Given the description of an element on the screen output the (x, y) to click on. 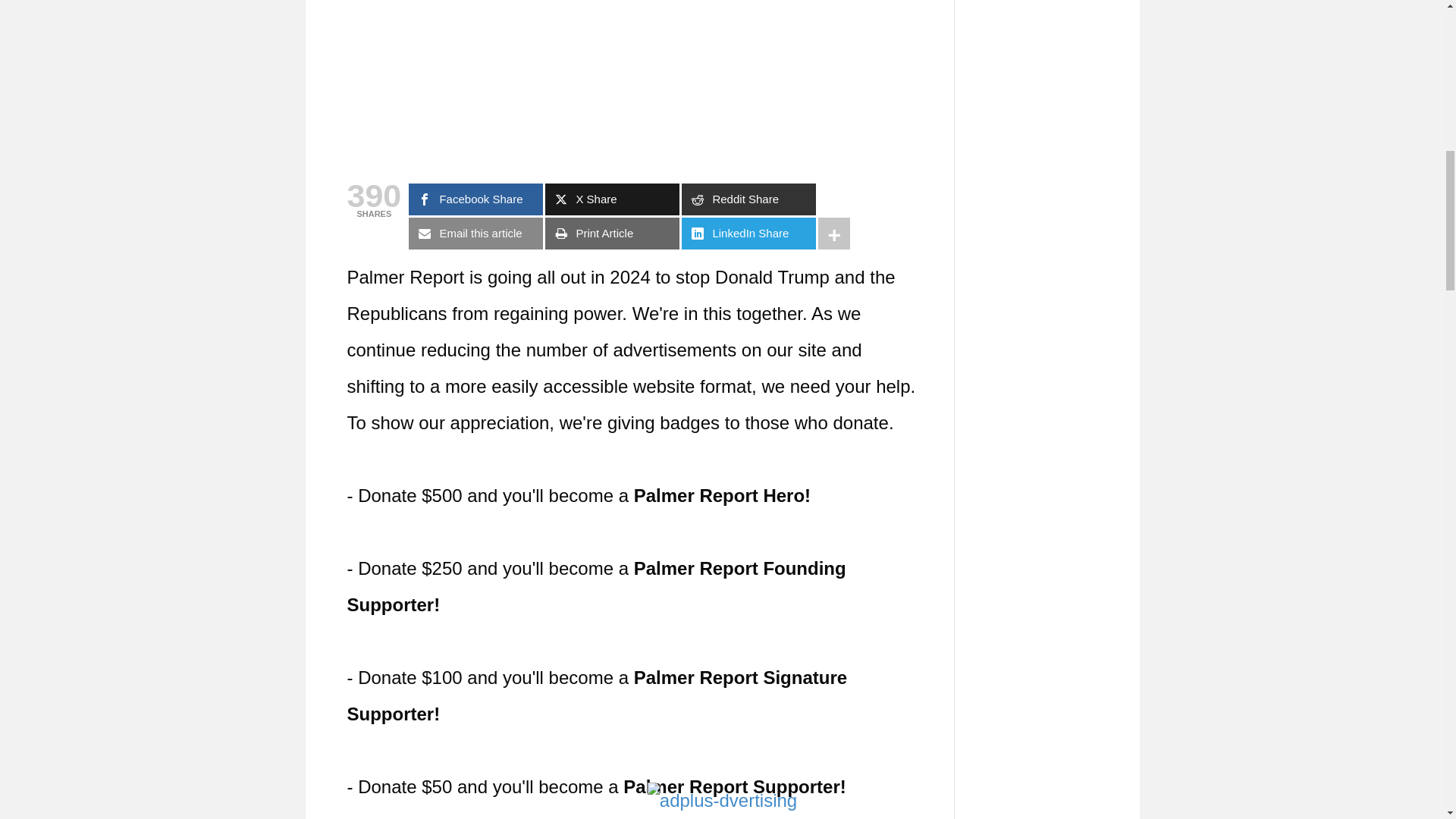
Facebook Share (476, 199)
X Share (611, 199)
Print Article (611, 233)
Email this article (476, 233)
LinkedIn Share (748, 233)
Reddit Share (748, 199)
